Given the description of an element on the screen output the (x, y) to click on. 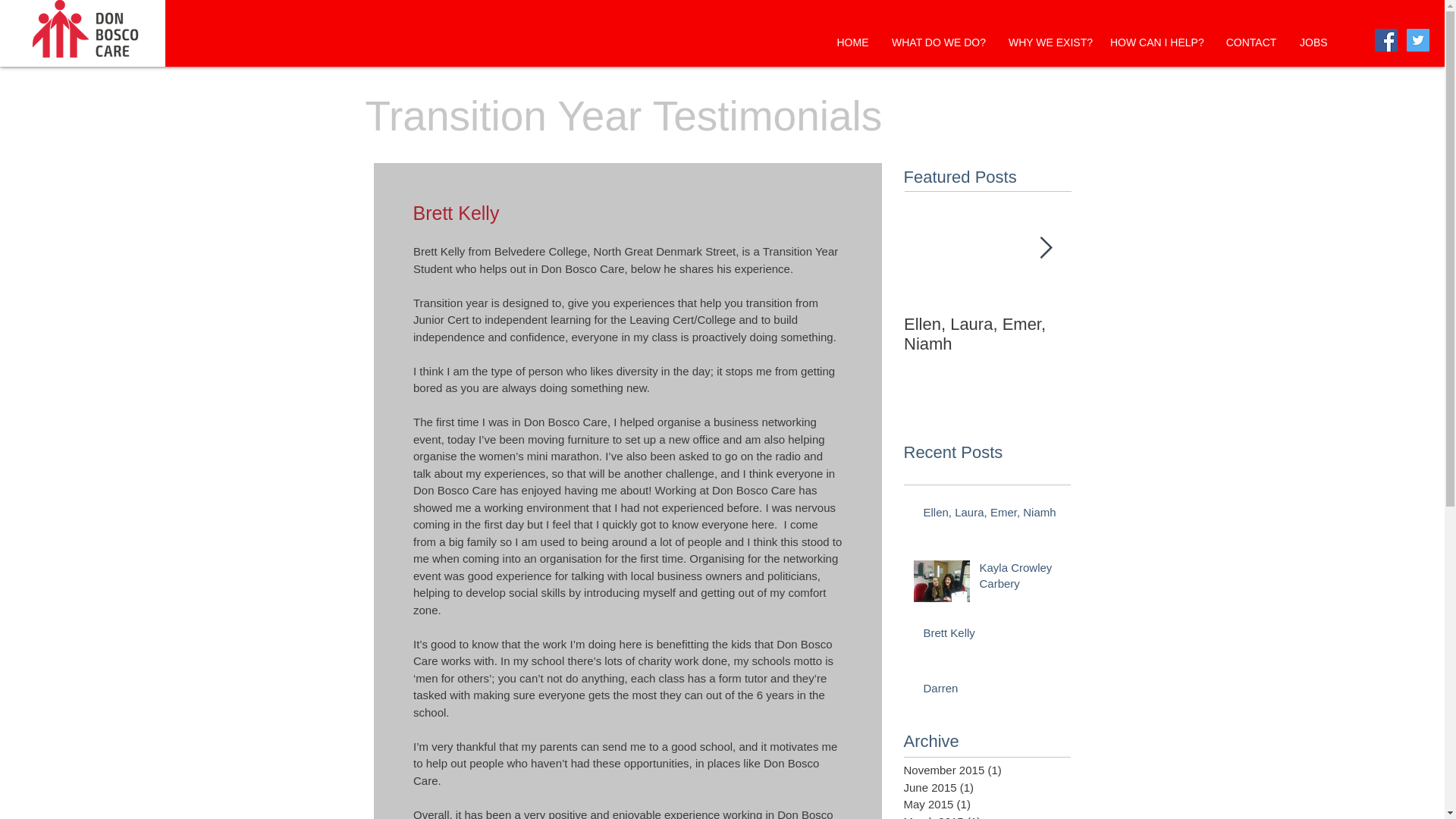
Kayla Crowley Carbery (1153, 333)
WHAT DO WE DO? (938, 42)
CONTACT (1251, 42)
JOBS (1313, 42)
HOME (852, 42)
WHY WE EXIST? (1048, 42)
Kayla Crowley Carbery (1020, 578)
Ellen, Laura, Emer, Niamh (987, 333)
Transition Year Testimonials (623, 115)
Ellen, Laura, Emer, Niamh (992, 515)
Brett Kelly (992, 635)
Darren (992, 690)
HOW CAN I HELP? (1156, 42)
